Given the description of an element on the screen output the (x, y) to click on. 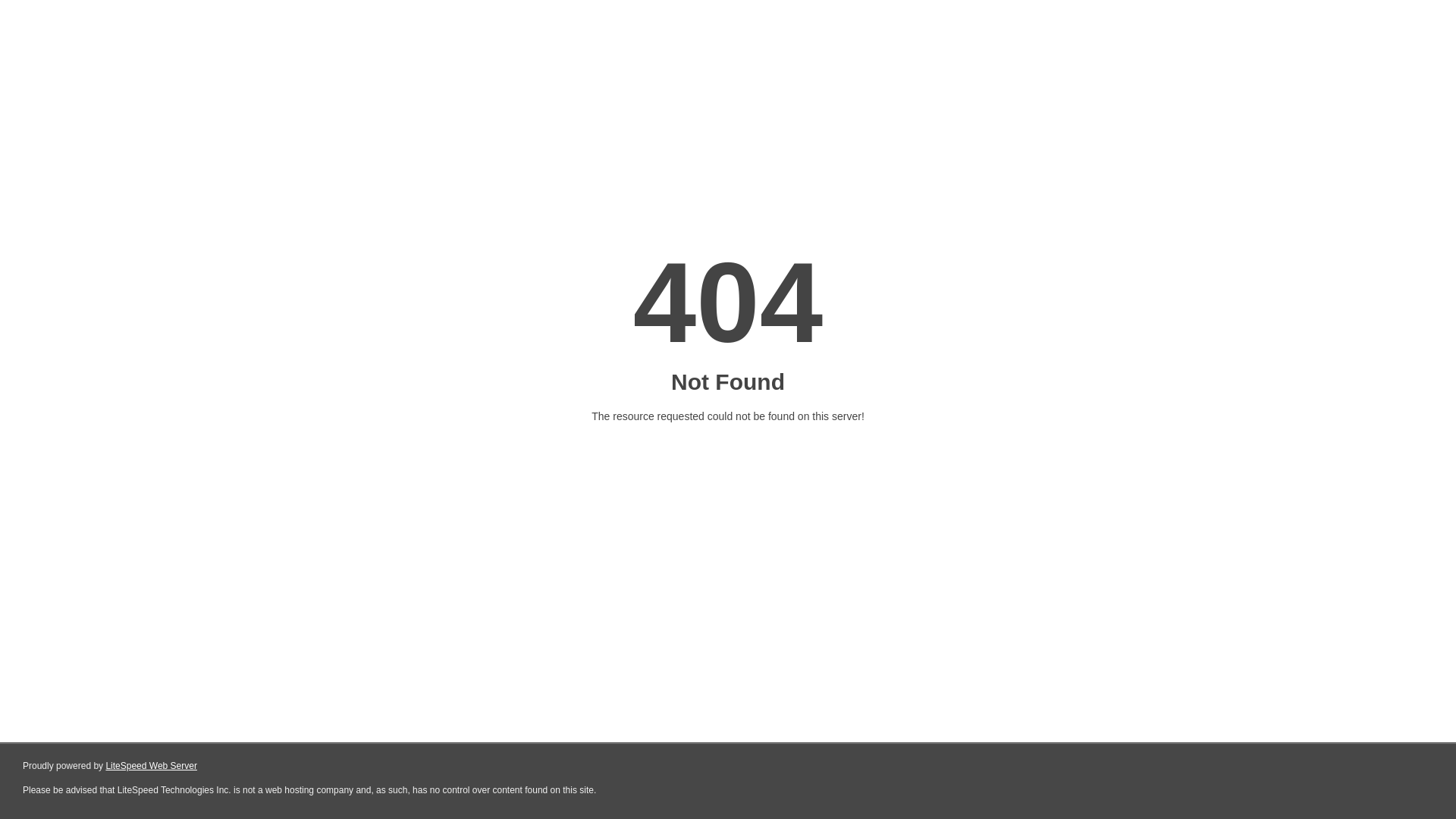
LiteSpeed Web Server Element type: text (151, 765)
